Given the description of an element on the screen output the (x, y) to click on. 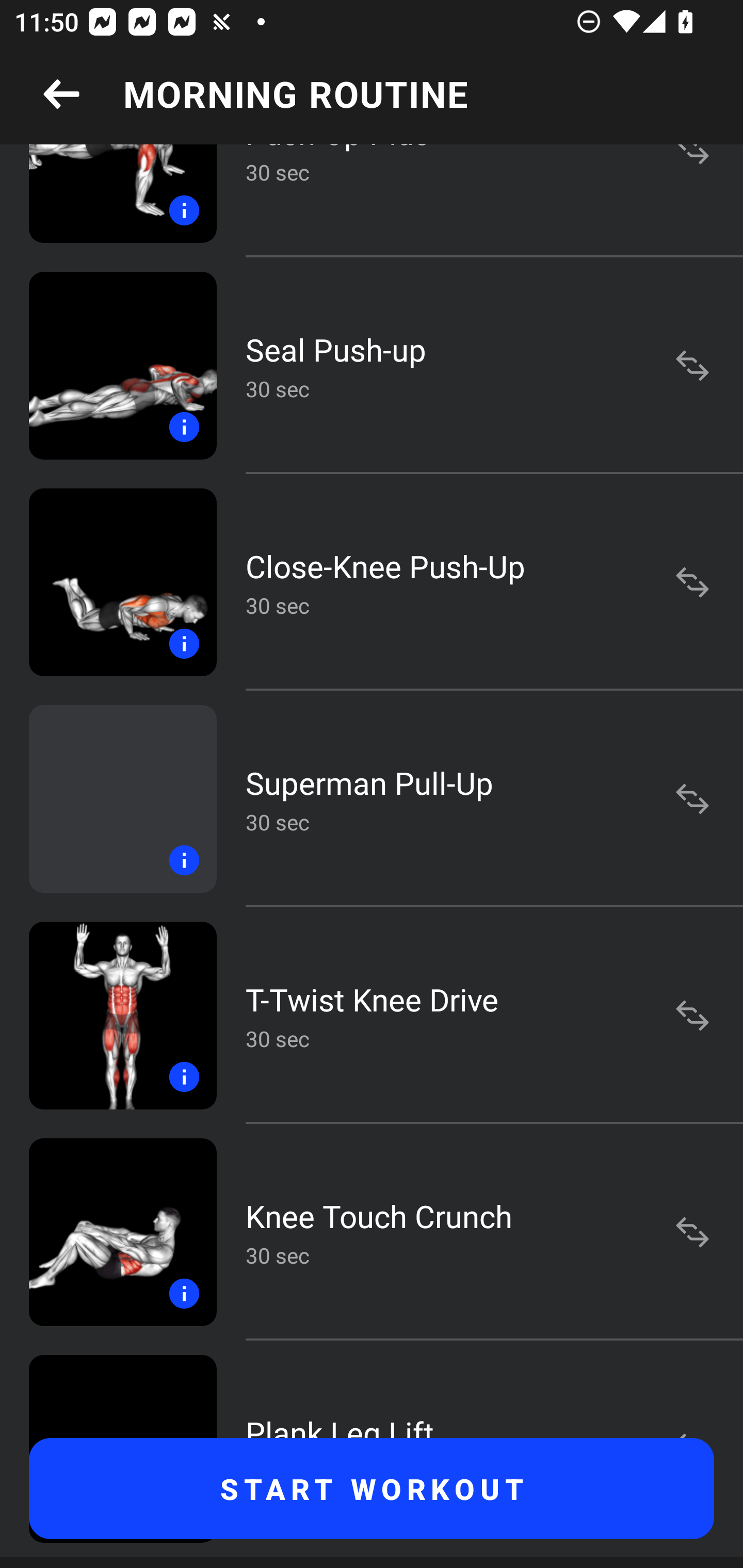
Seal Push-up 30 sec (371, 365)
Close-Knee Push-Up 30 sec (371, 581)
Superman Pull-Up 30 sec (371, 798)
T-Twist Knee Drive 30 sec (371, 1015)
Knee Touch Crunch 30 sec (371, 1232)
START WORKOUT (371, 1488)
